Given the description of an element on the screen output the (x, y) to click on. 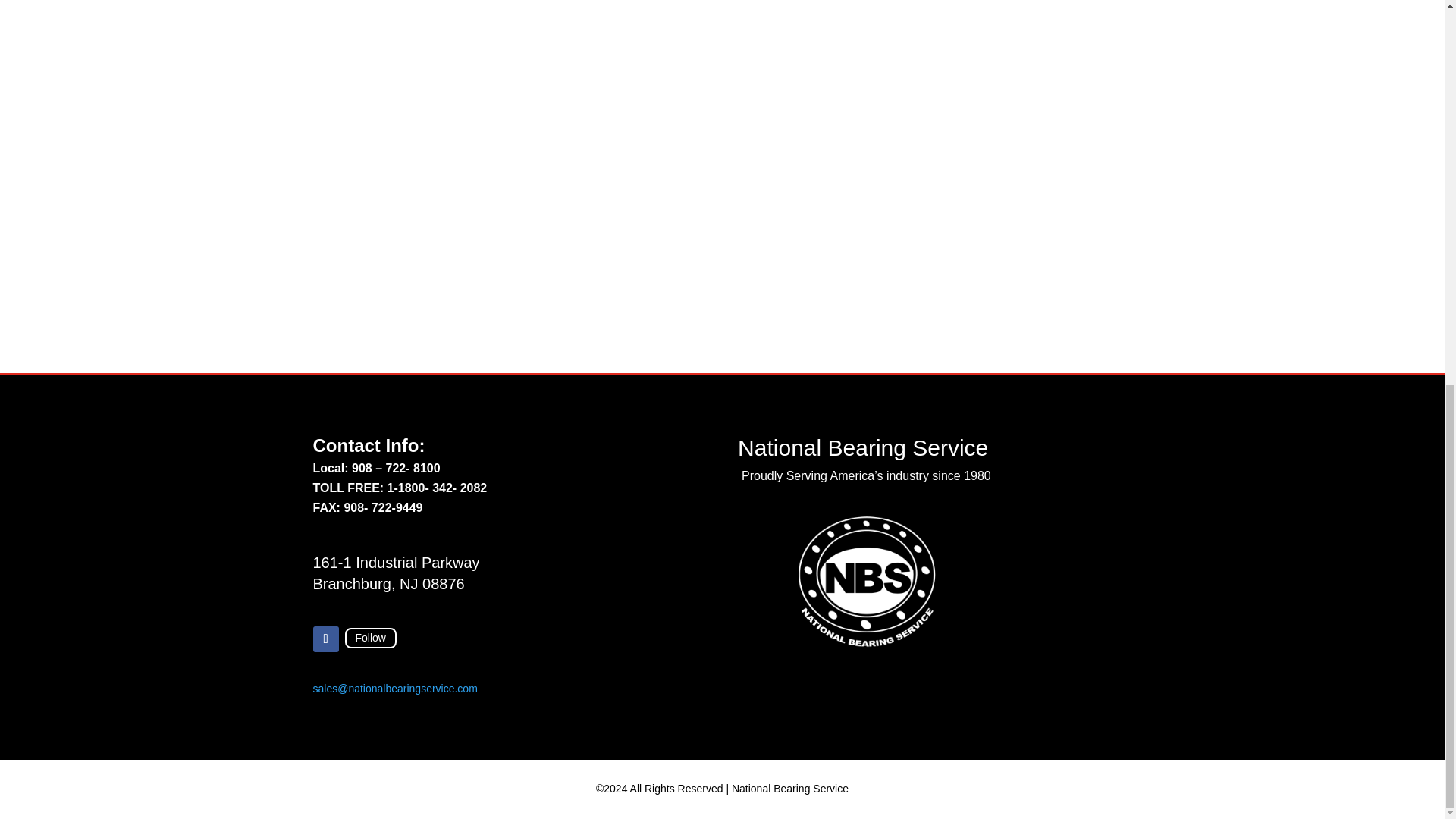
Follow (369, 637)
Follow on Facebook (325, 638)
Facebook (369, 637)
wpforms-submit (1094, 275)
